Given the description of an element on the screen output the (x, y) to click on. 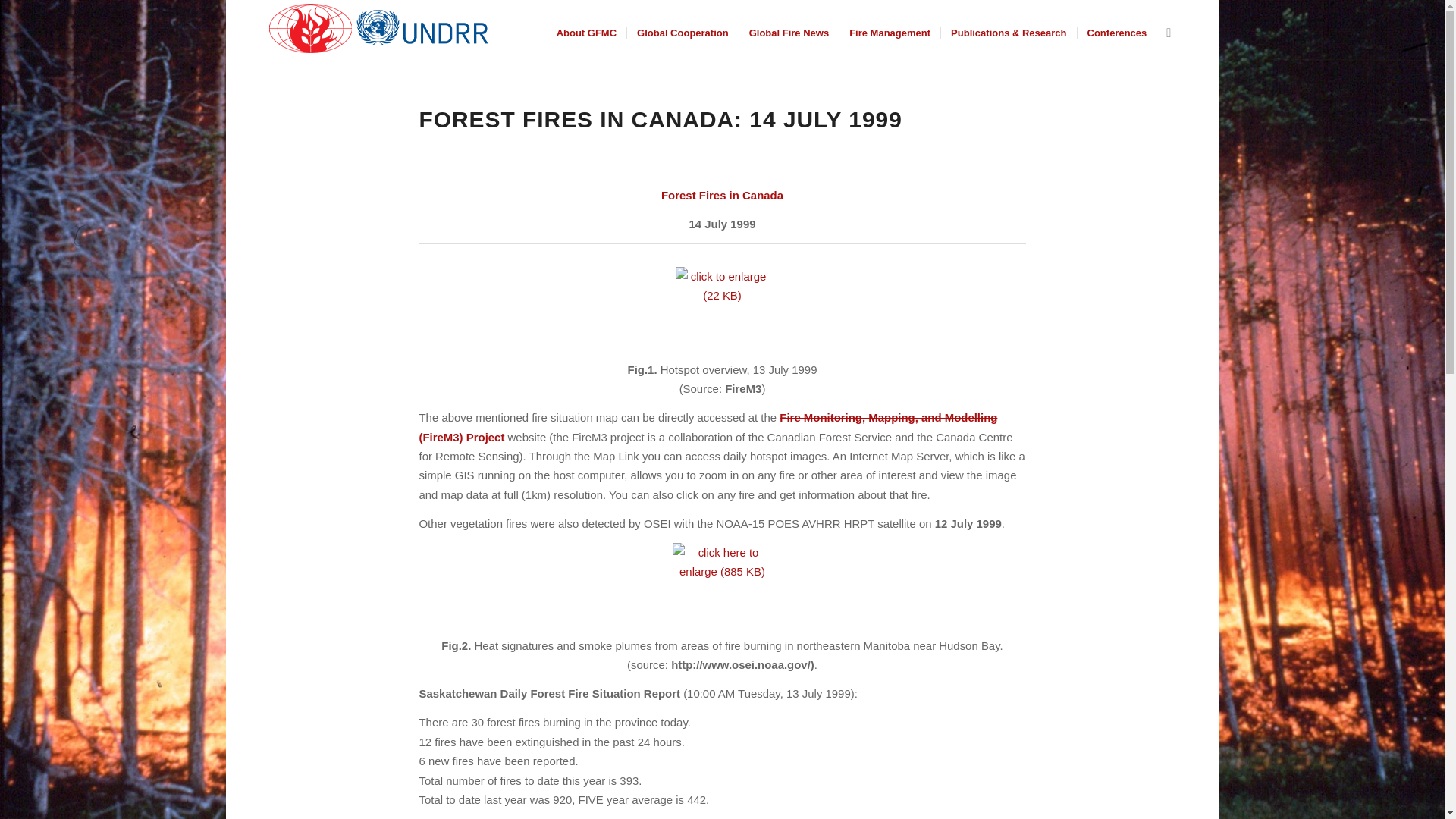
About GFMC (586, 33)
Global Cooperation (682, 33)
Permanent Link: Forest Fires in Canada: 14 July 1999 (660, 119)
